Given the description of an element on the screen output the (x, y) to click on. 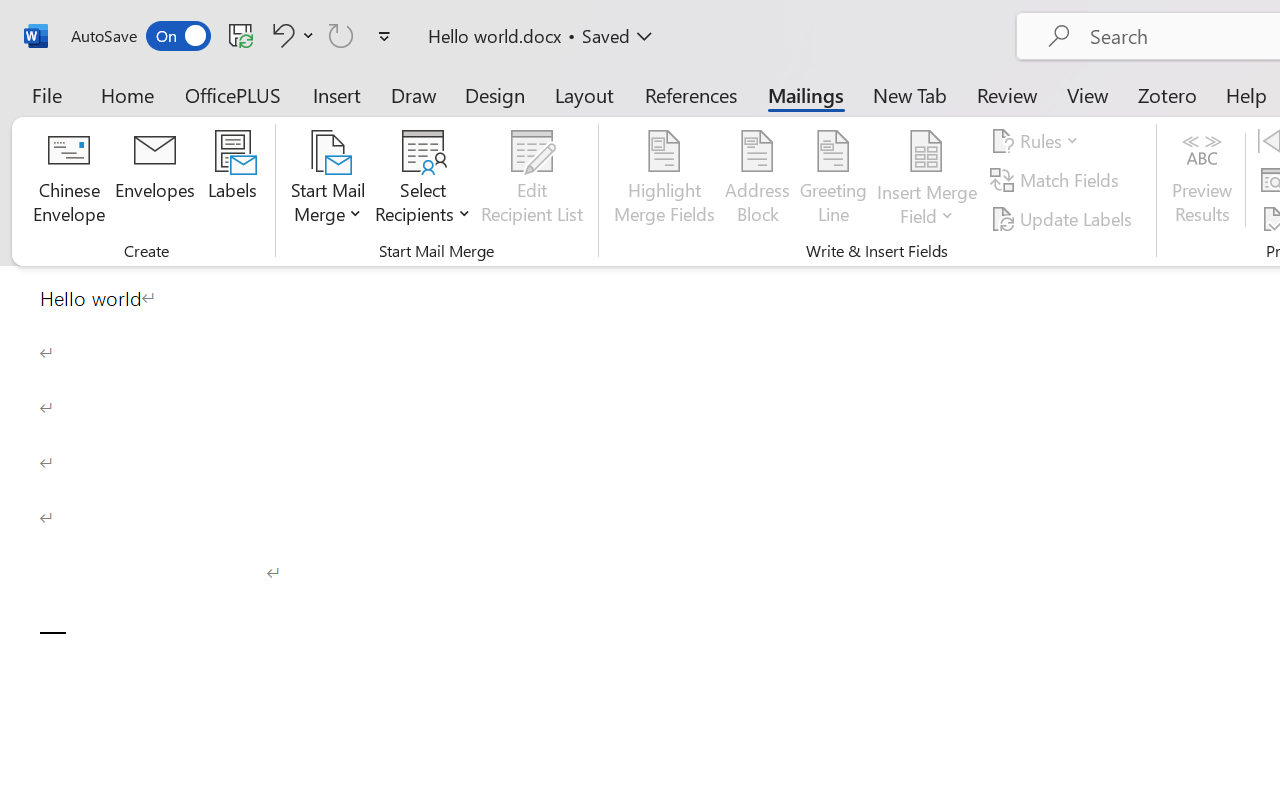
Draw (413, 94)
Zotero (1166, 94)
Insert Merge Field (927, 179)
Insert Merge Field (927, 151)
Labels... (232, 179)
References (690, 94)
New Tab (909, 94)
Start Mail Merge (328, 179)
Rules (1037, 141)
Can't Repeat (341, 35)
Match Fields... (1057, 179)
File Tab (46, 94)
Home (127, 94)
Insert (337, 94)
